Given the description of an element on the screen output the (x, y) to click on. 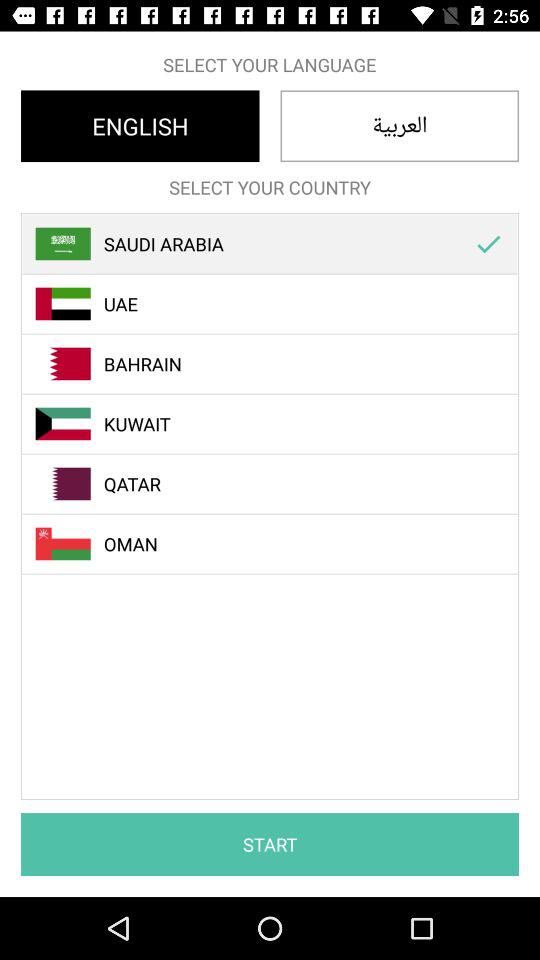
choose the icon below select your language icon (140, 126)
